Given the description of an element on the screen output the (x, y) to click on. 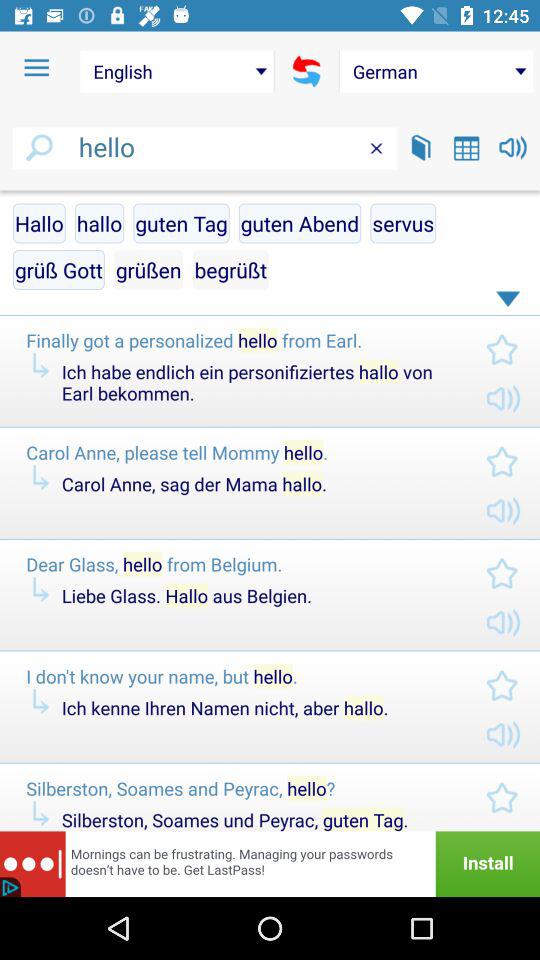
play sound (512, 147)
